Given the description of an element on the screen output the (x, y) to click on. 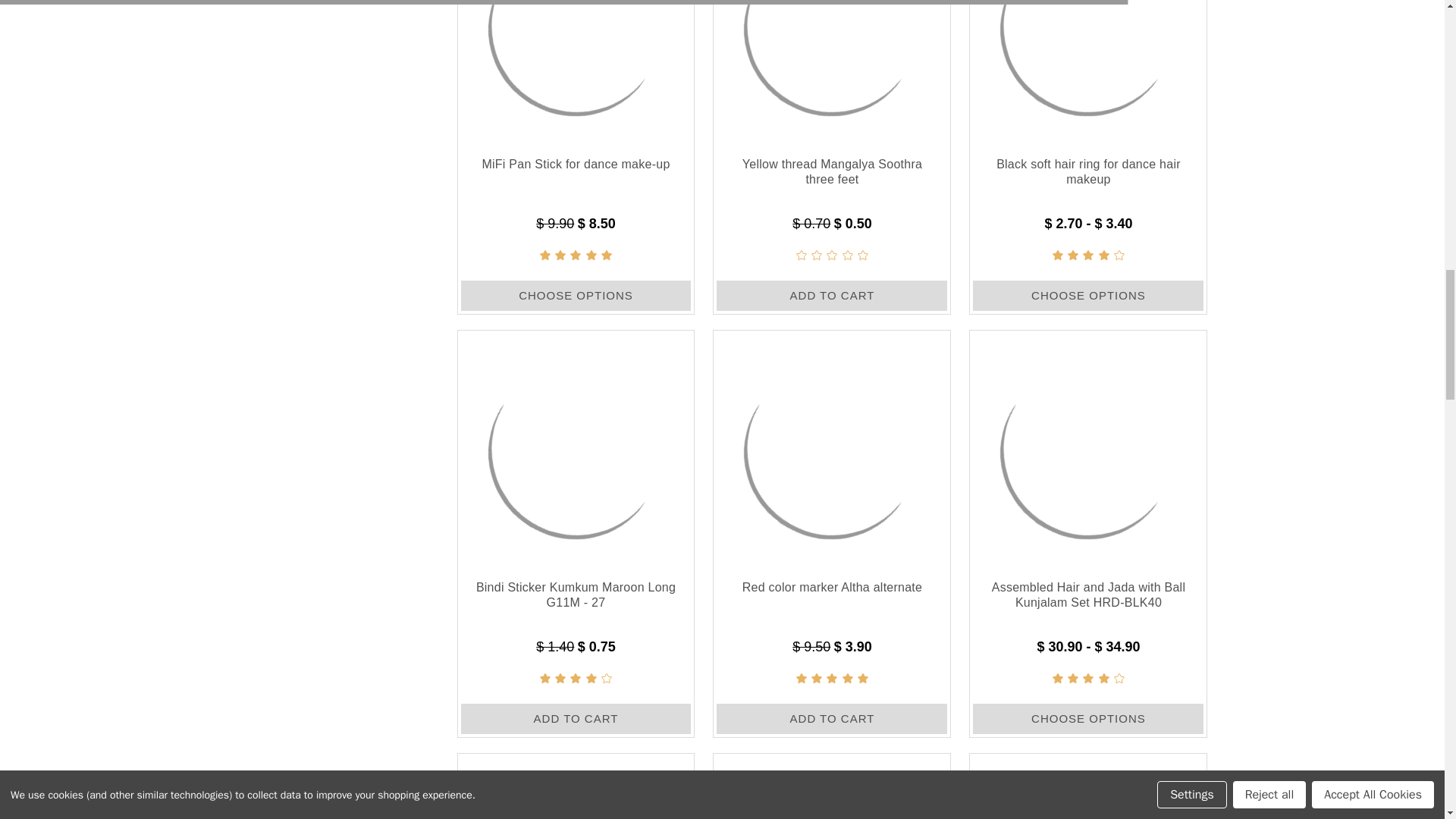
Braided False Hair 3WB32 (831, 787)
Yellow thread Mangalya Soothra three feet (831, 69)
MiFi Panstick shades (576, 69)
half bun for Bharatanatyam and Kuchipudi dance makeup (576, 787)
Long Bindi (576, 447)
Red color marker Altha alternate (831, 447)
Hair ring (1088, 69)
Sticker bindi (1088, 787)
Surya Jada (1088, 447)
